Given the description of an element on the screen output the (x, y) to click on. 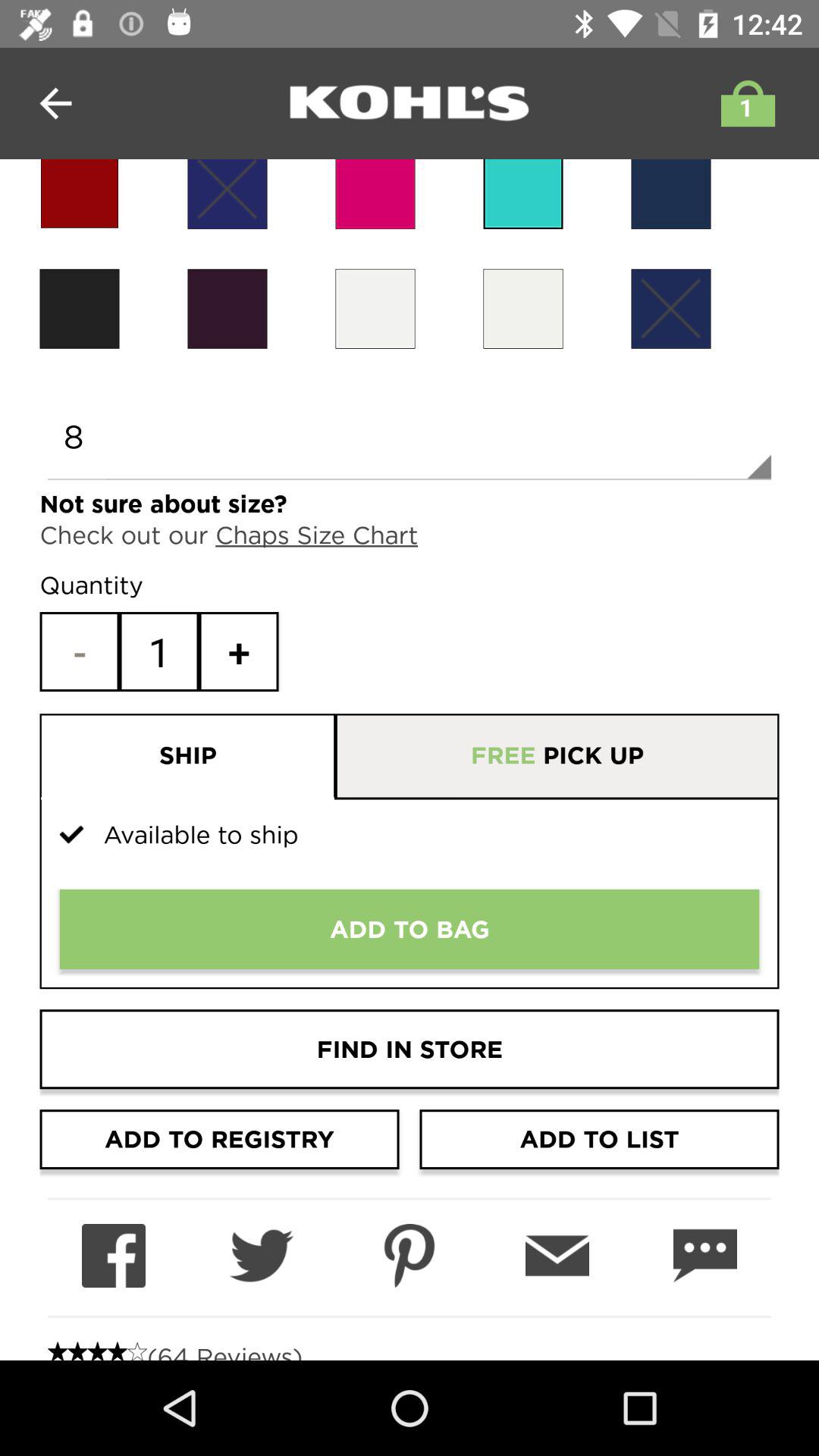
select color (523, 194)
